Given the description of an element on the screen output the (x, y) to click on. 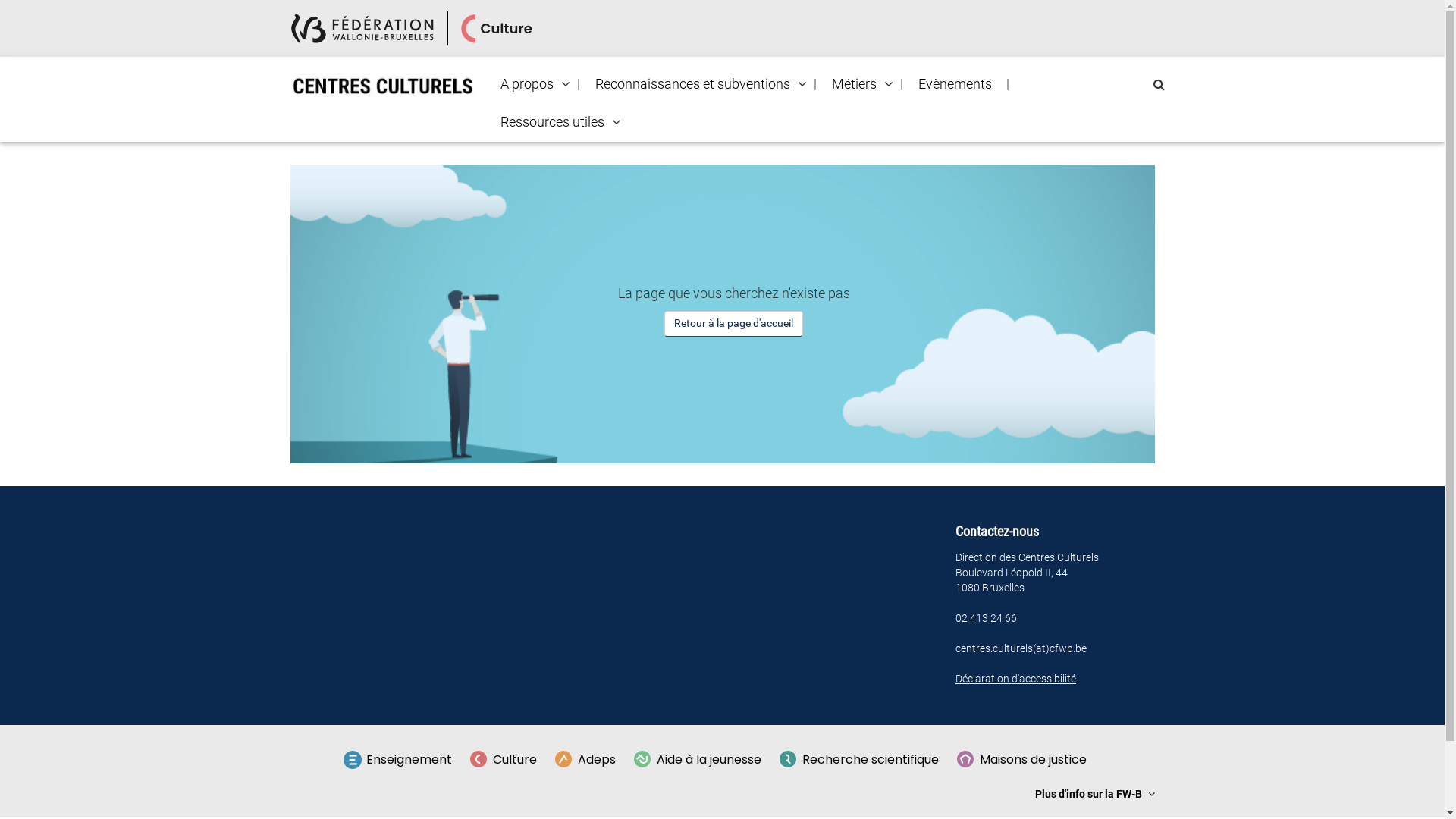
A propos Element type: text (526, 84)
Recherche Element type: text (5, 11)
Reconnaissances et subventions Element type: text (692, 84)
Ressources utiles Element type: text (552, 122)
Plus d'info sur la FW-B Element type: text (1094, 793)
centres.culturels(at)cfwb.be Element type: text (1020, 648)
02 413 24 66 Element type: text (985, 617)
Rechercher sur le site Element type: text (1158, 84)
